Given the description of an element on the screen output the (x, y) to click on. 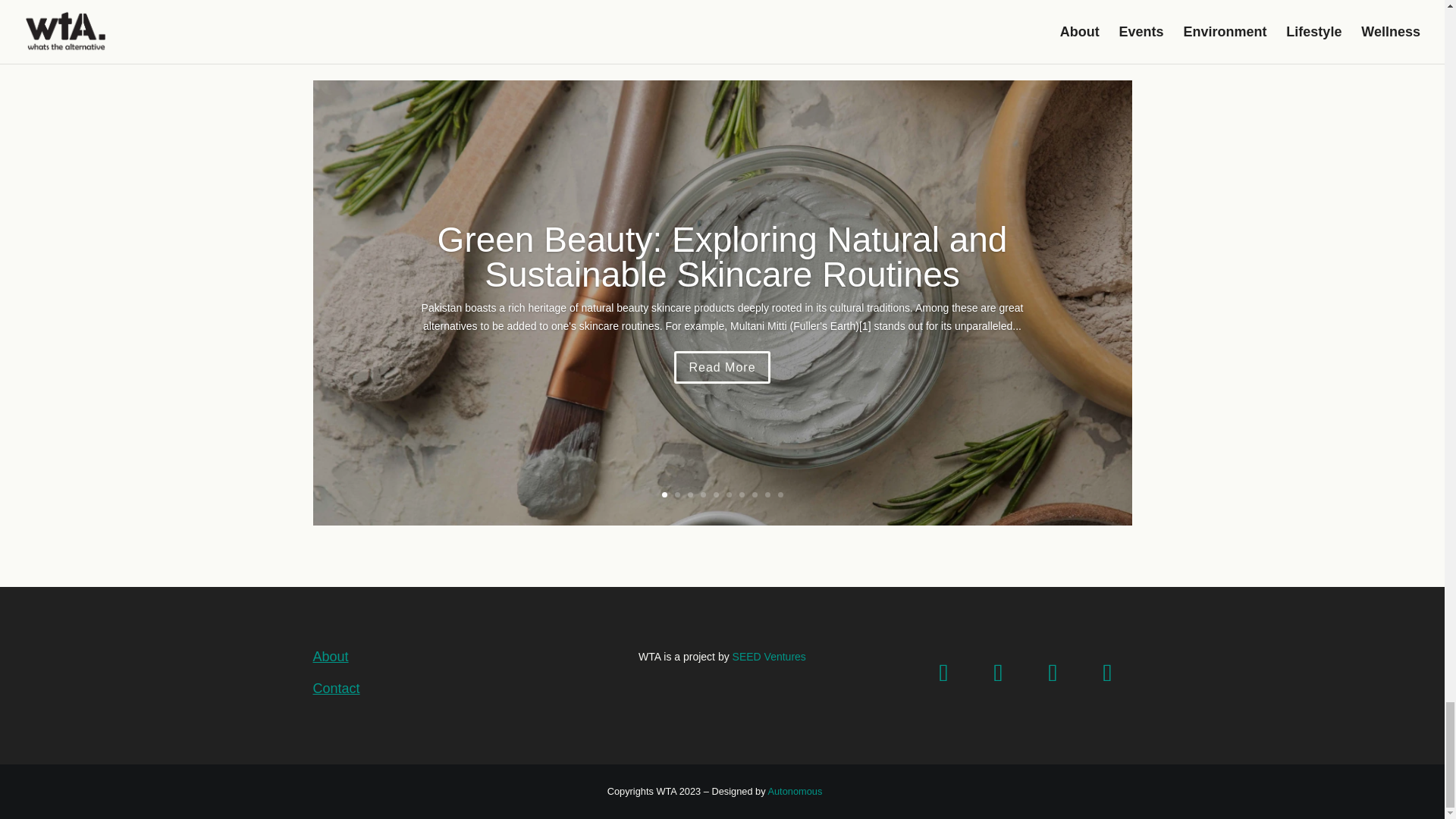
Follow on Instagram (998, 672)
Follow on Facebook (943, 672)
Follow on LinkedIn (1107, 672)
Follow on X (1052, 672)
